Given the description of an element on the screen output the (x, y) to click on. 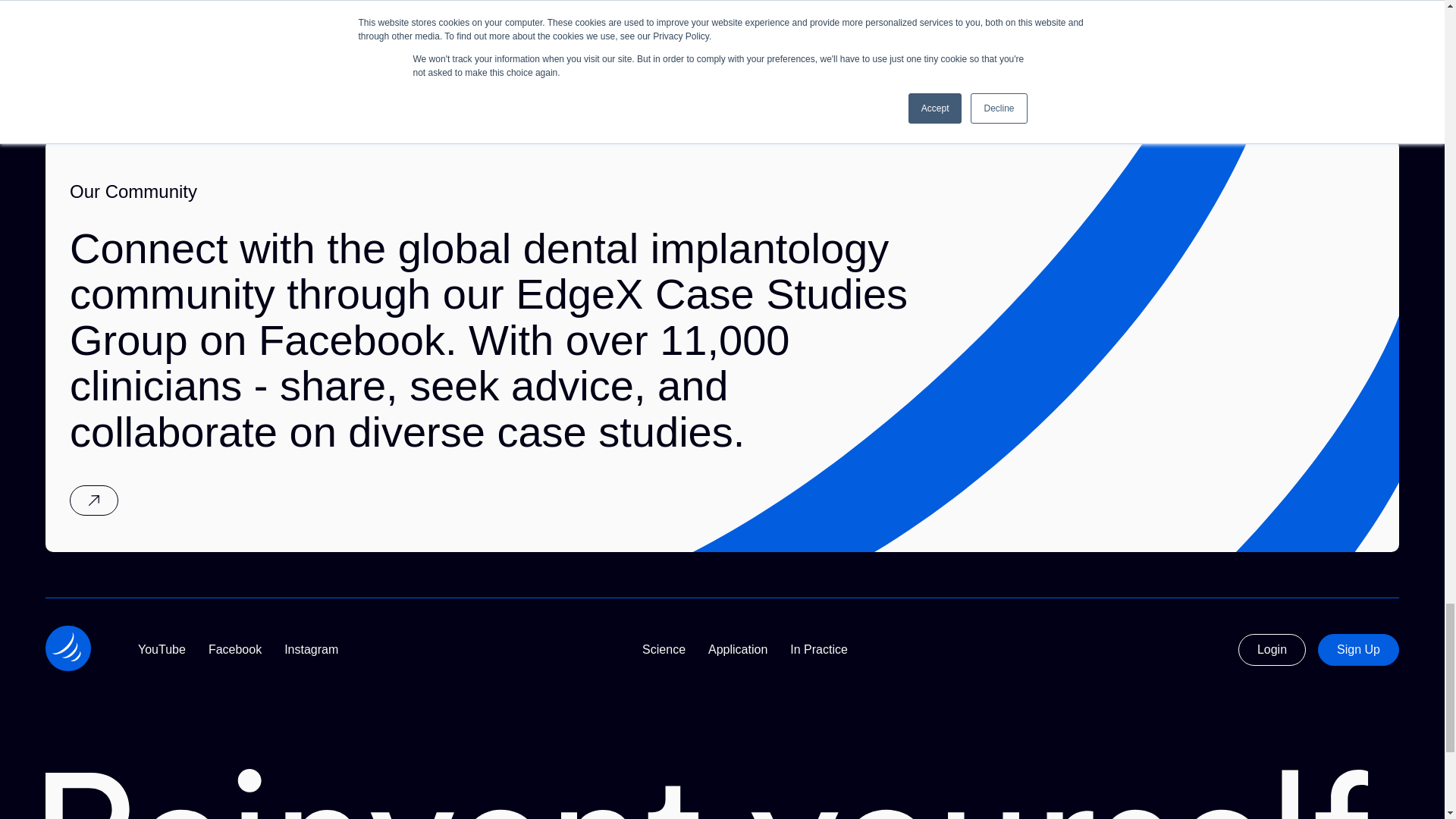
Instagram (310, 649)
Login (1272, 649)
In Practice (818, 649)
Facebook (235, 649)
Science (663, 649)
YouTube (162, 649)
Sign Up (1358, 649)
Application (737, 649)
